Given the description of an element on the screen output the (x, y) to click on. 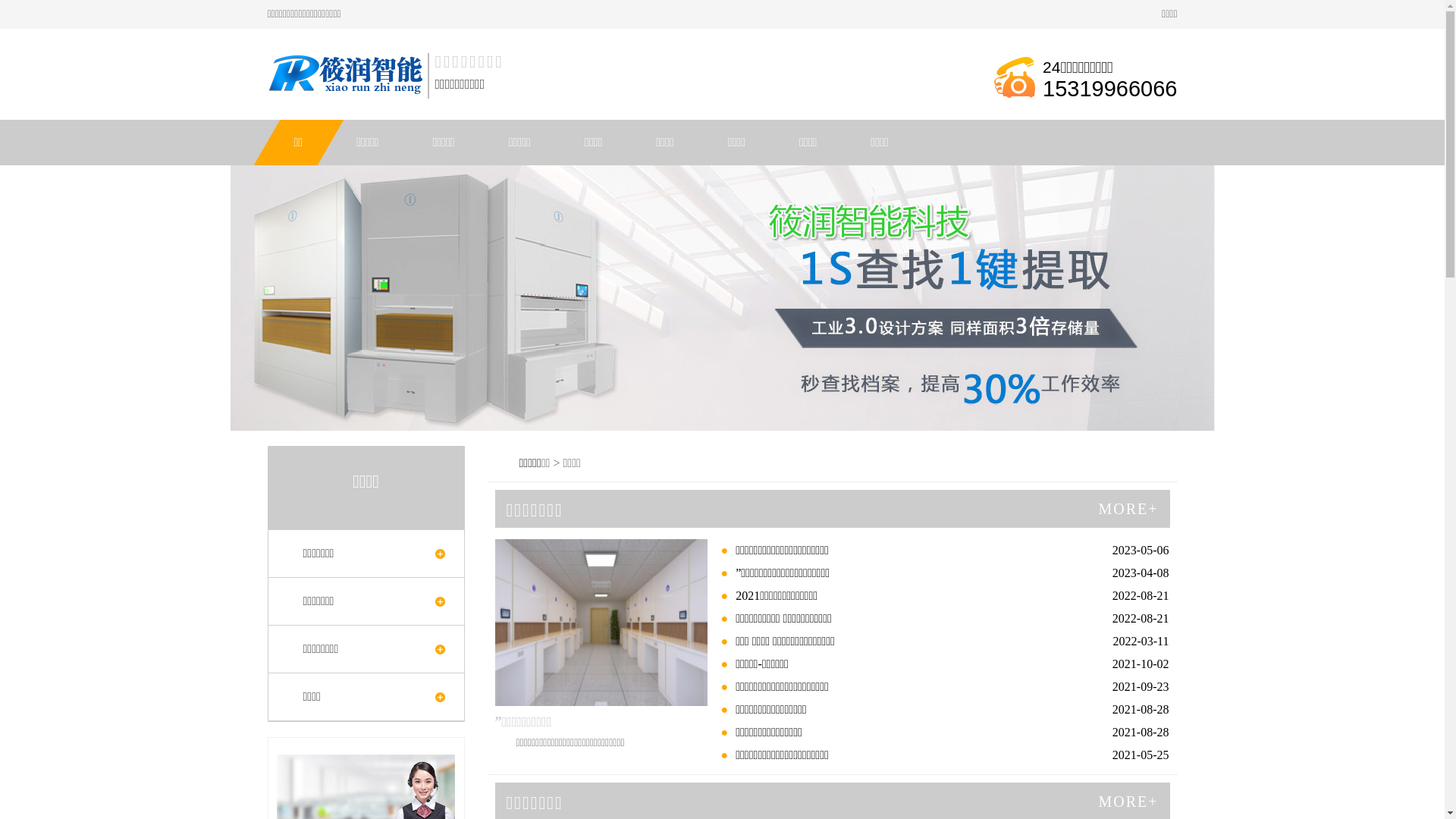
MORE+ Element type: text (1127, 508)
